Given the description of an element on the screen output the (x, y) to click on. 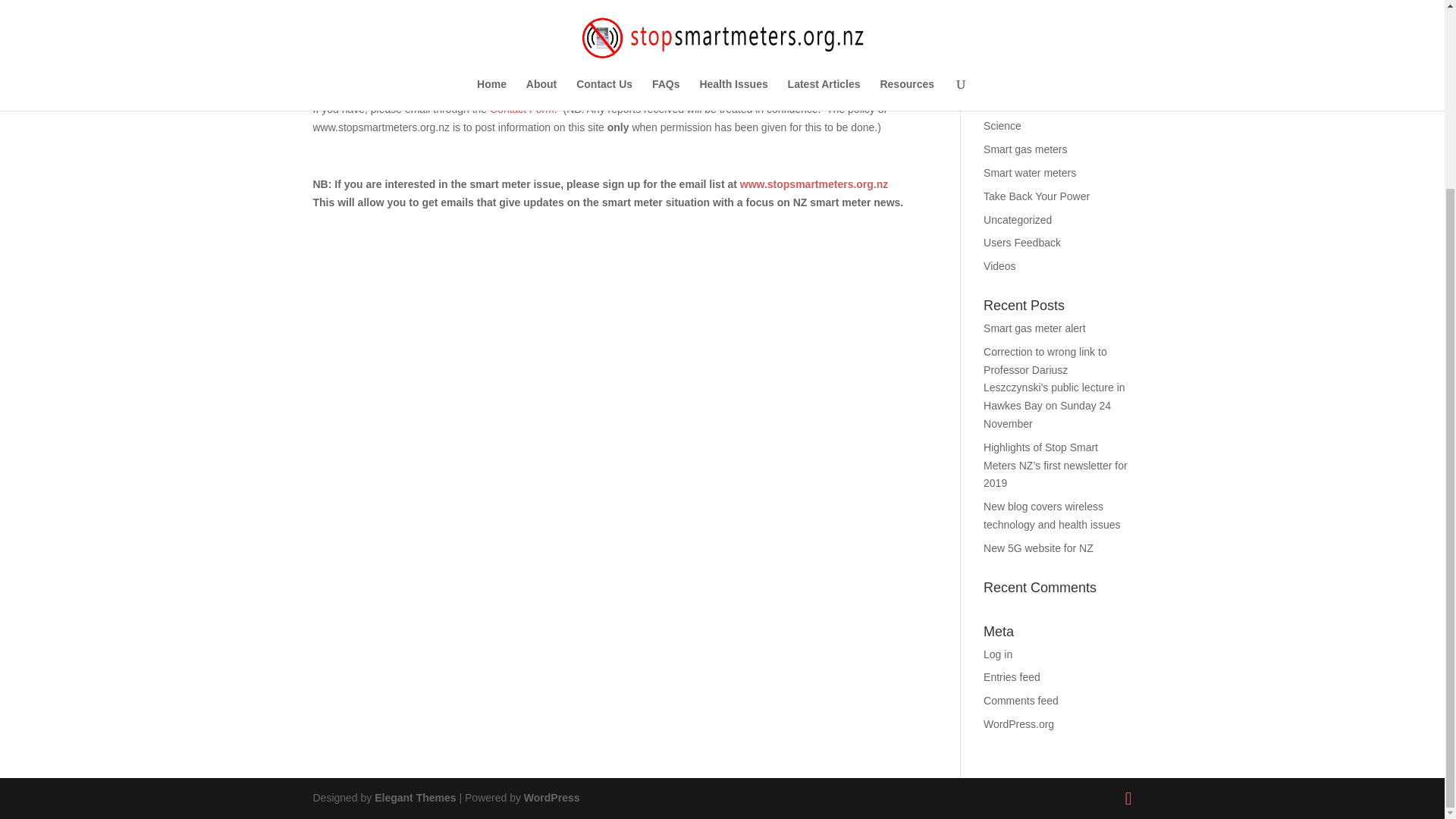
Contact Form (521, 109)
www.stopsmartmeters.org.nz  (815, 184)
Take Back Your Power (1036, 196)
Uncategorized (1017, 219)
Privacy (1000, 102)
Science (1003, 125)
Smart gas meters (1025, 149)
Latest News (1013, 79)
Premium WordPress Themes (414, 797)
Information in Other Languages (1030, 46)
Government and Electricity Industry Positions (1047, 10)
Smart water meters (1029, 173)
Users Feedback (1022, 242)
